Given the description of an element on the screen output the (x, y) to click on. 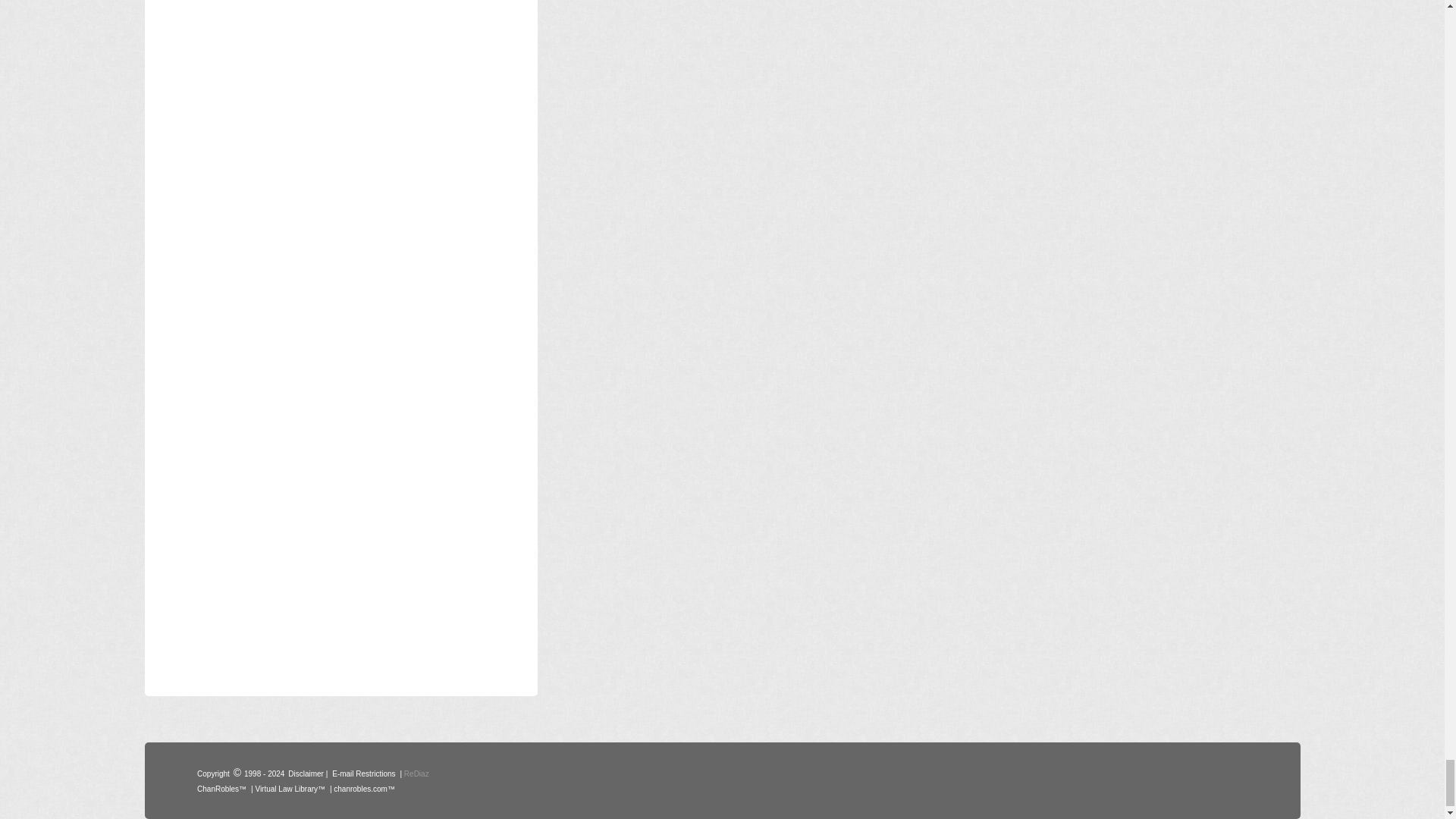
E-mail Restrictions (363, 772)
Copyright (213, 772)
